Given the description of an element on the screen output the (x, y) to click on. 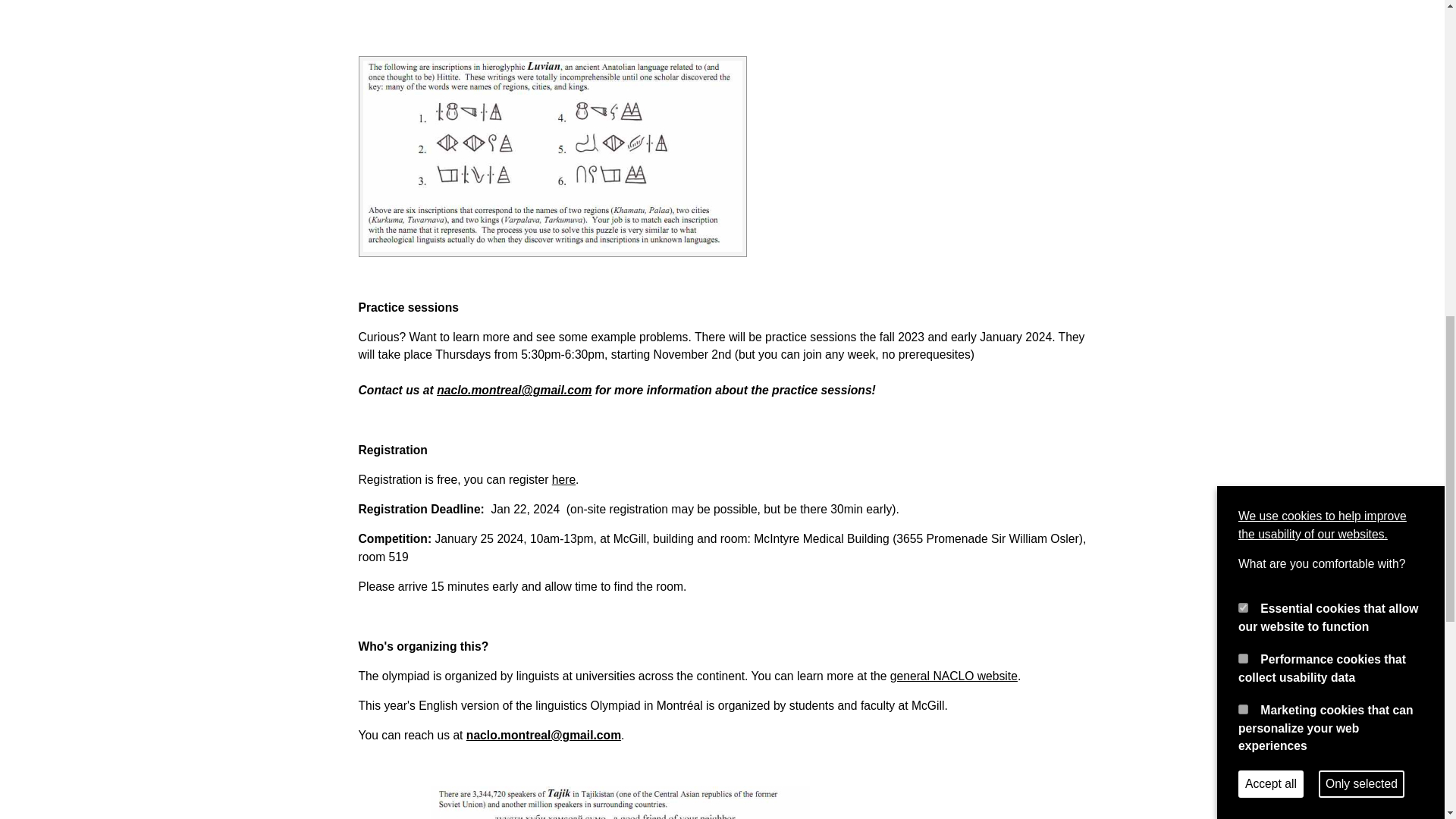
general NACLO website (953, 675)
here (563, 479)
Tajik (619, 802)
Luvian (552, 155)
naclo (953, 675)
